Given the description of an element on the screen output the (x, y) to click on. 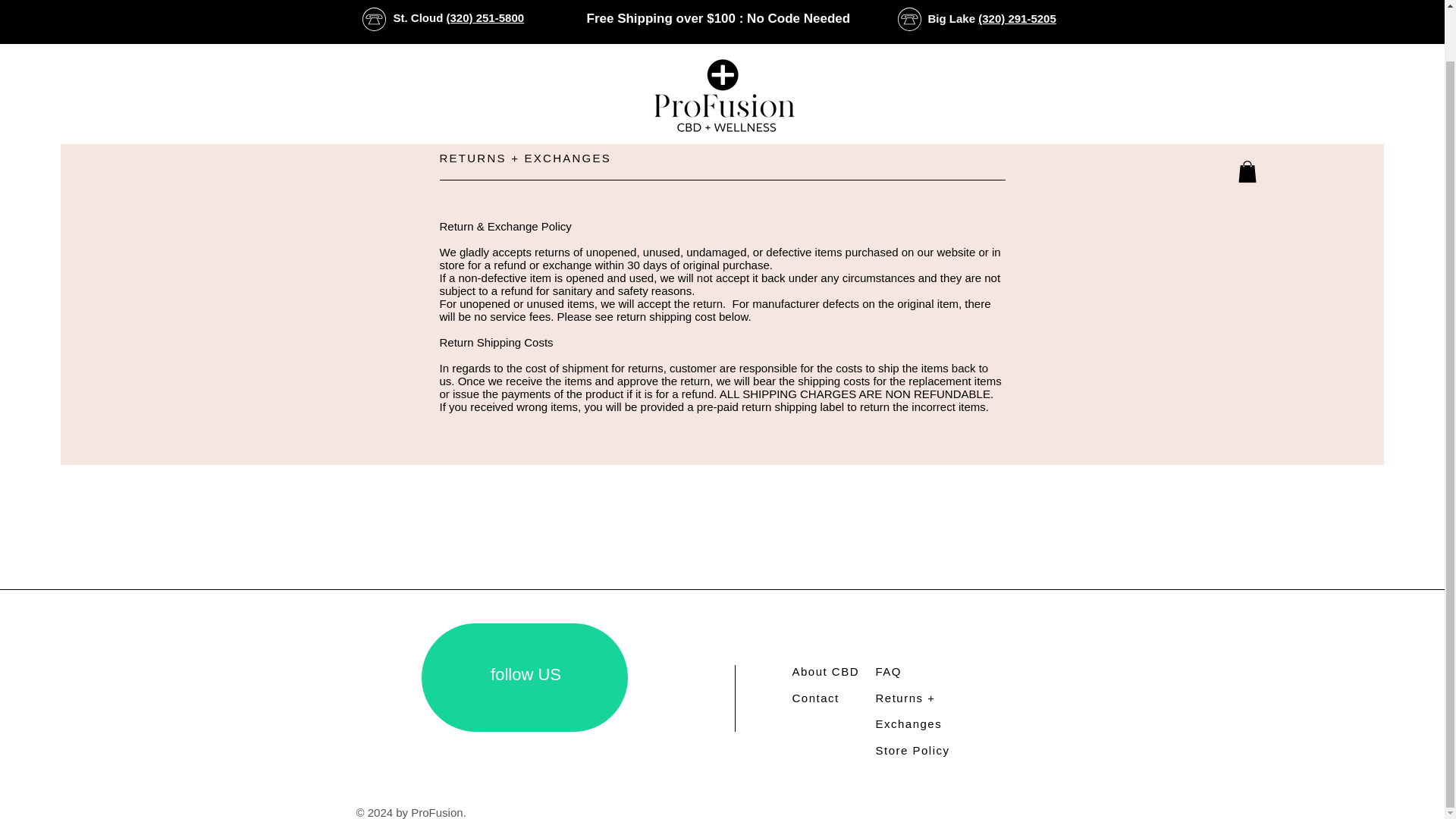
Contact (815, 697)
About CBD (825, 671)
Store Policy (912, 749)
FAQ (888, 671)
